Given the description of an element on the screen output the (x, y) to click on. 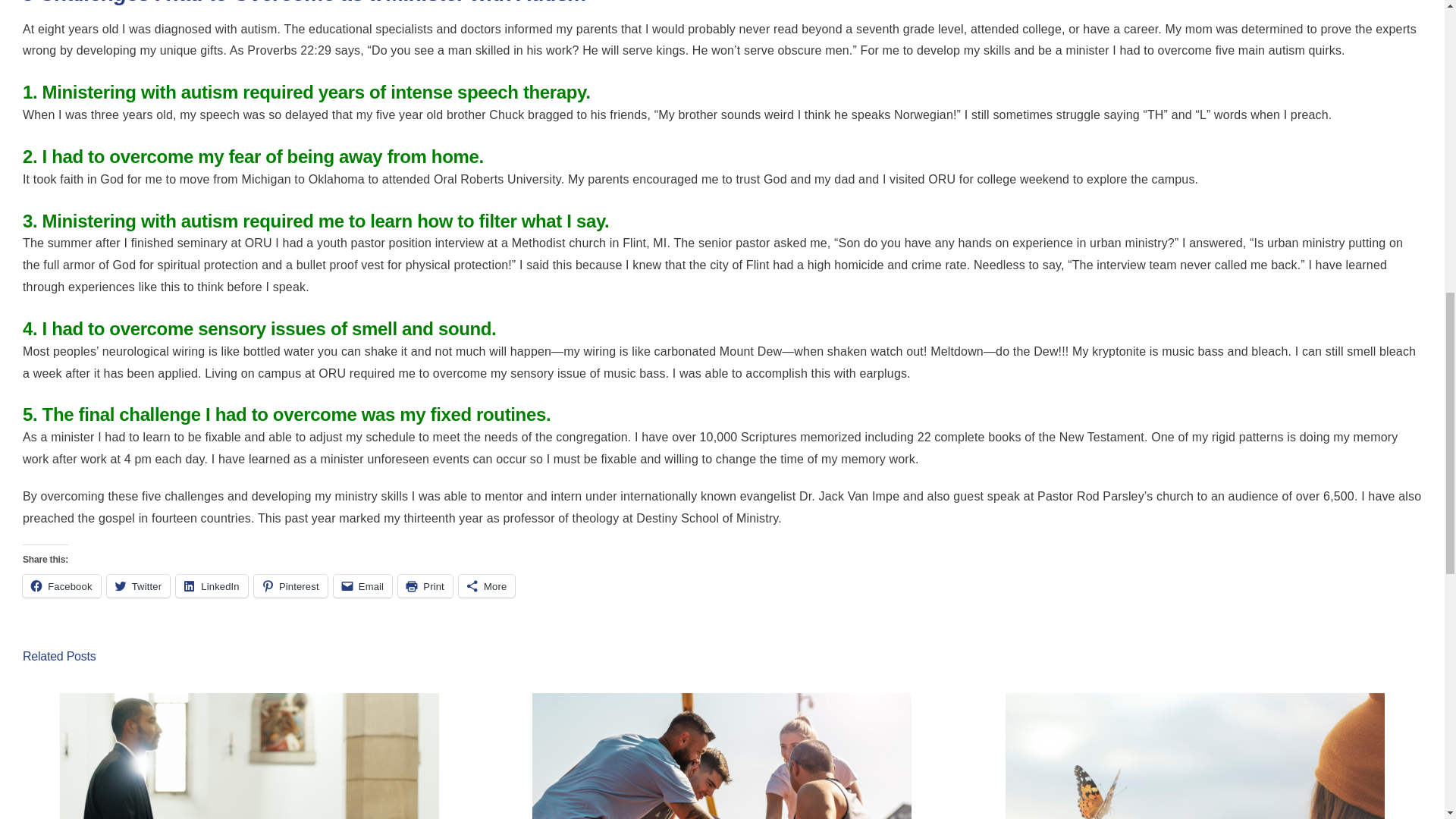
Twitter (138, 585)
More (486, 585)
Print (424, 585)
Click to email a link to a friend (362, 585)
Email (362, 585)
Click to print (424, 585)
LinkedIn (211, 585)
Facebook (61, 585)
Pinterest (290, 585)
Click to share on LinkedIn (211, 585)
